Given the description of an element on the screen output the (x, y) to click on. 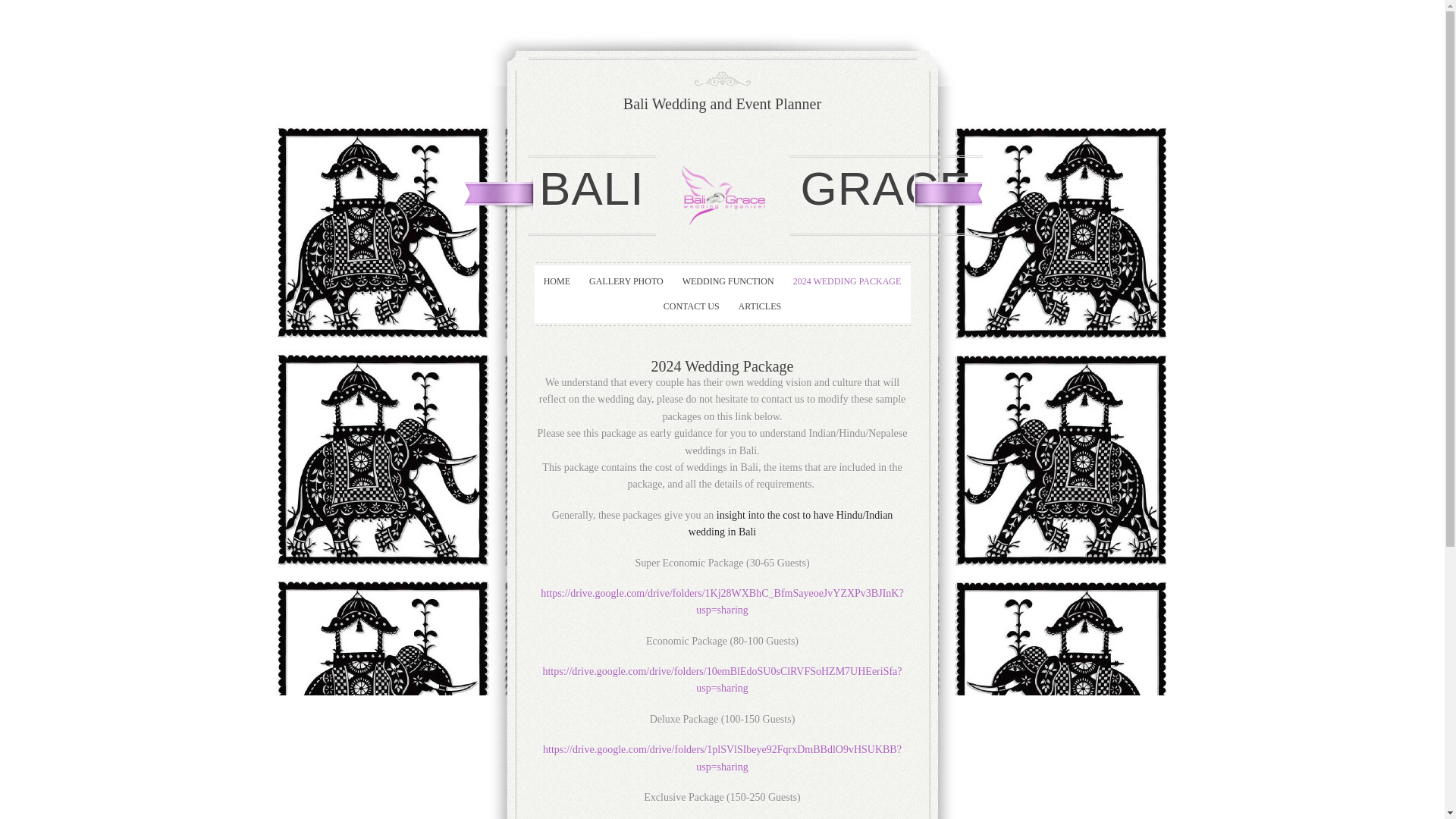
GALLERY PHOTO (626, 285)
ARTICLES (759, 310)
HOME (556, 285)
CONTACT US (691, 310)
WEDDING FUNCTION (728, 285)
2024 WEDDING PACKAGE (847, 285)
